Given the description of an element on the screen output the (x, y) to click on. 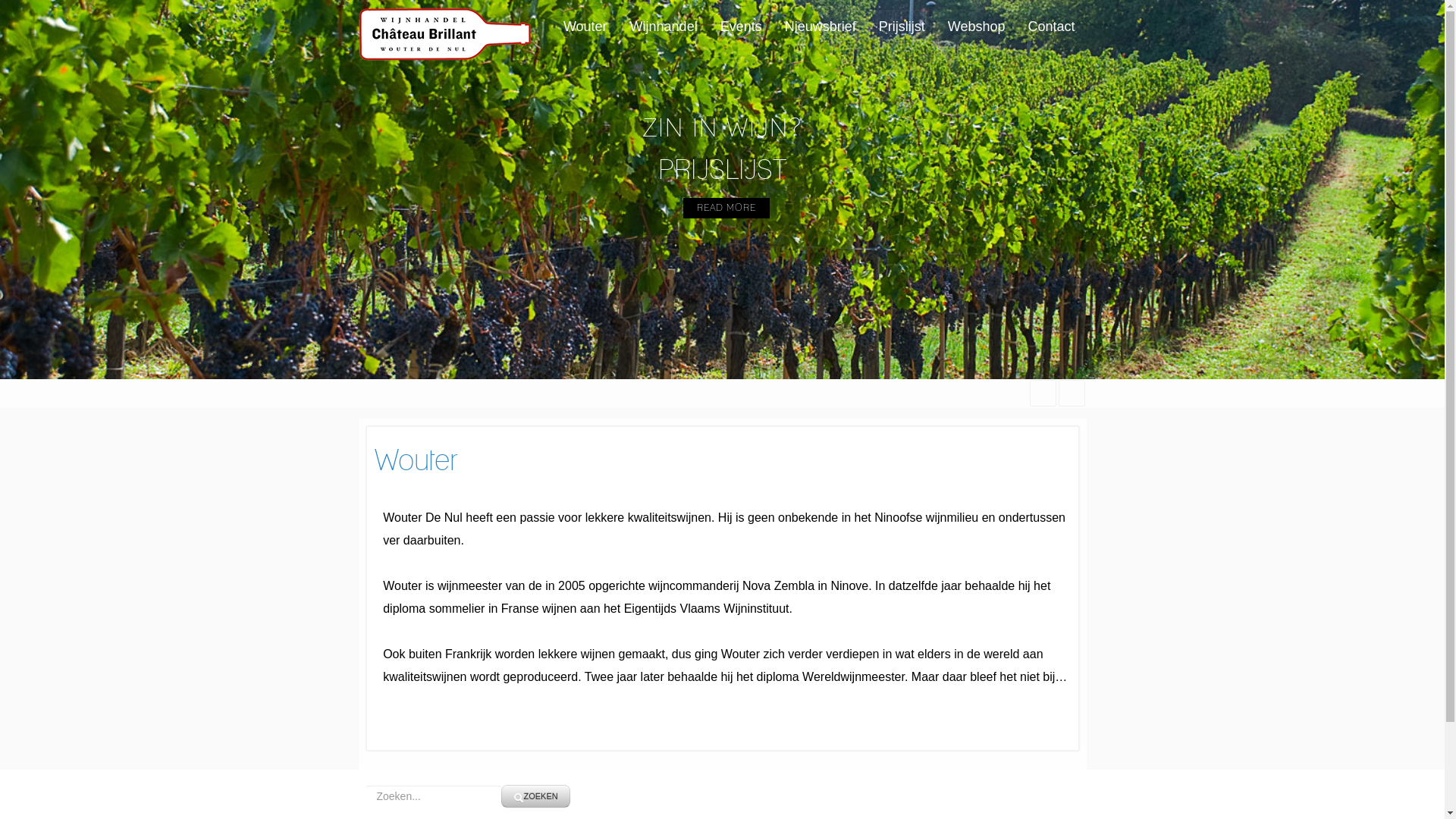
Nieuwsbrief Element type: text (820, 26)
facebook Element type: text (1041, 392)
Webshop Element type: text (976, 26)
Prijslijst Element type: text (901, 26)
Wouter Element type: text (585, 26)
Wijnhandel Element type: text (663, 26)
linkedin Element type: text (1070, 392)
Events Element type: text (741, 26)
READ MORE Element type: text (725, 207)
ZOEKEN Element type: text (534, 795)
Contact Element type: text (1050, 26)
Wouter Element type: text (415, 461)
